Given the description of an element on the screen output the (x, y) to click on. 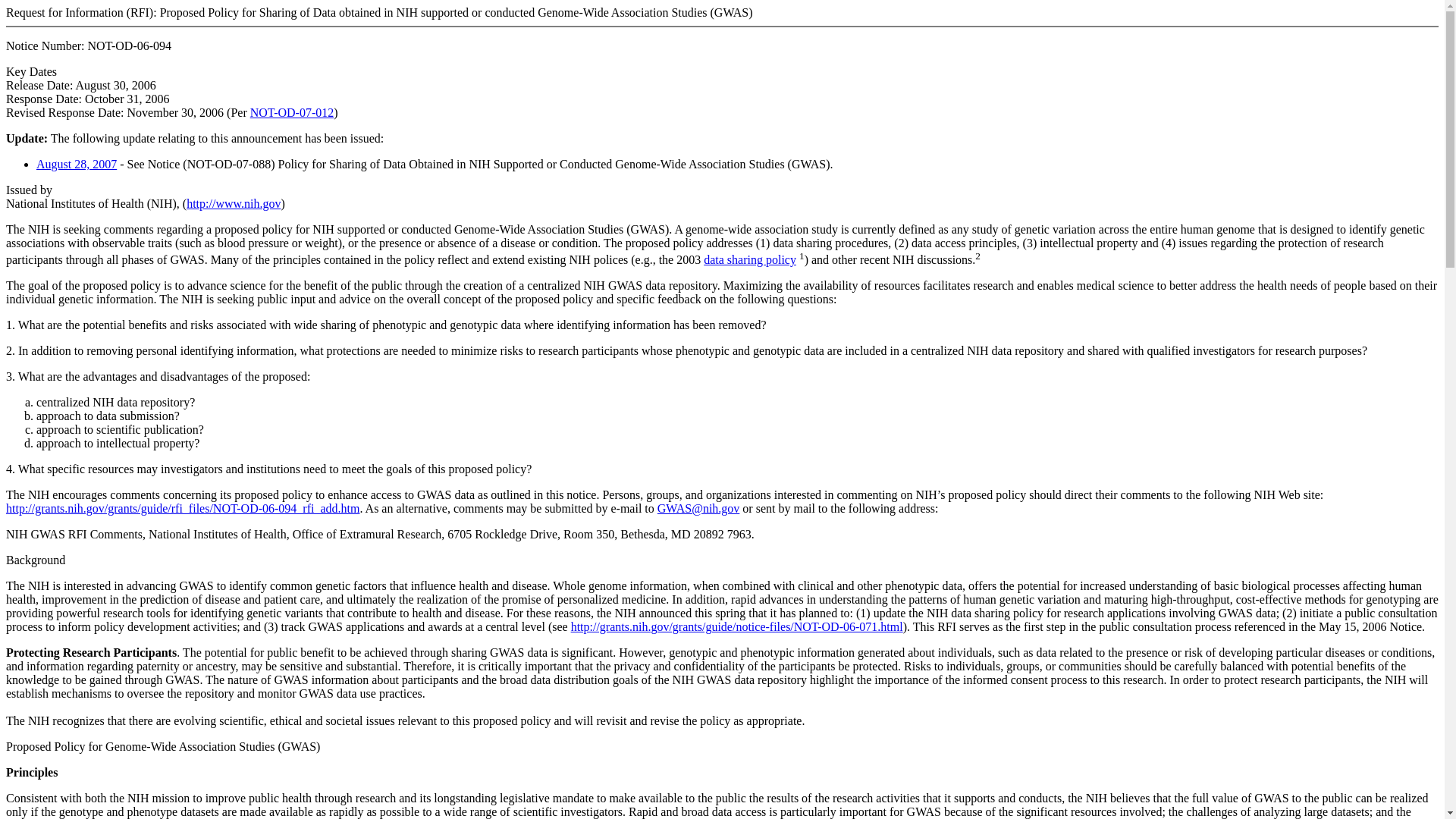
NOT-OD-07-012 (292, 112)
data sharing policy (749, 259)
August 28, 2007 (76, 164)
